Given the description of an element on the screen output the (x, y) to click on. 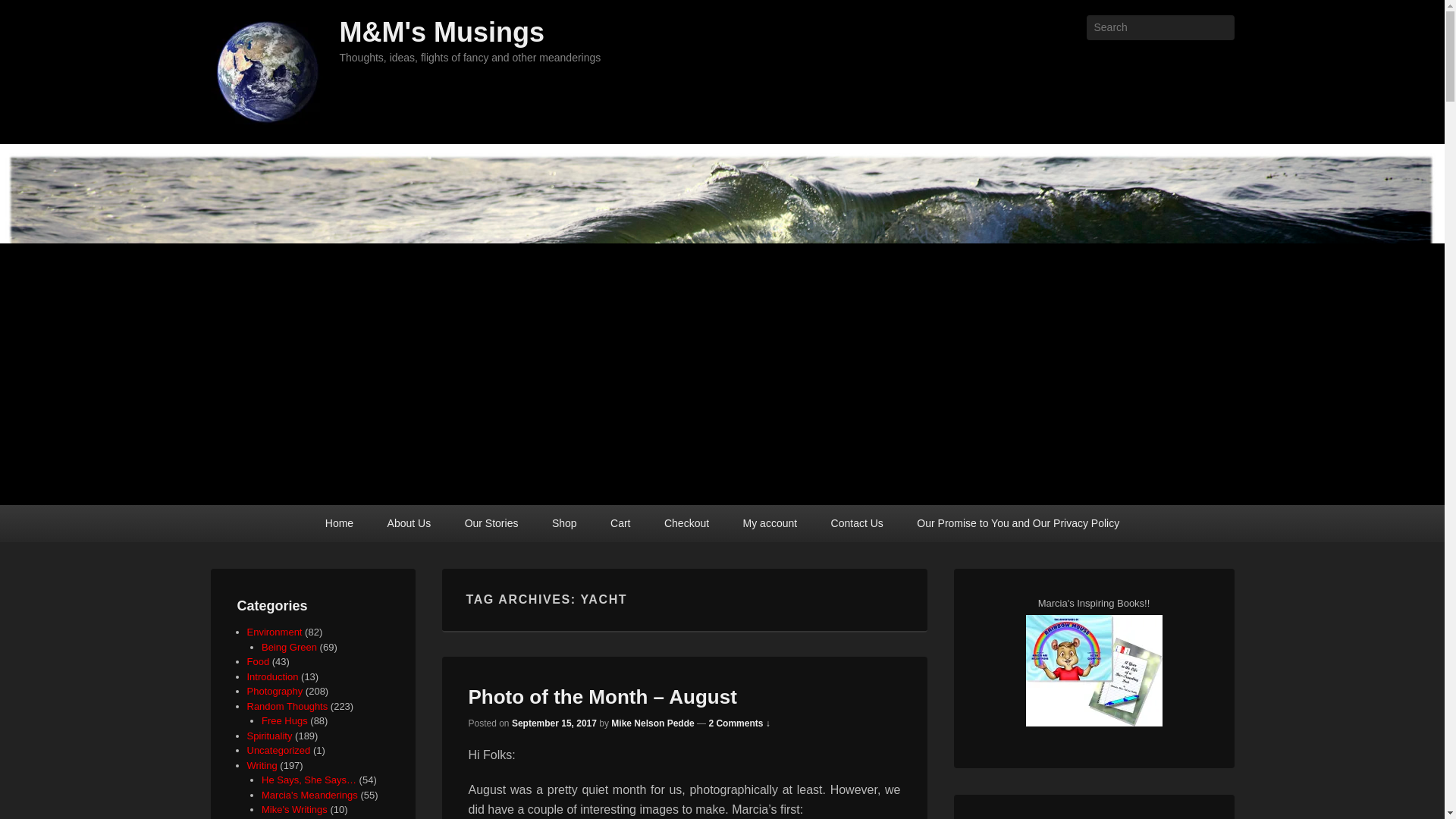
About Us (409, 523)
Cart (620, 523)
Home (339, 523)
Twitter (1121, 60)
Flickr (1154, 60)
View all posts by Mike Nelson Pedde (652, 723)
Instagram (1221, 60)
My account (770, 523)
Checkout (686, 523)
Twitter (1121, 60)
